Given the description of an element on the screen output the (x, y) to click on. 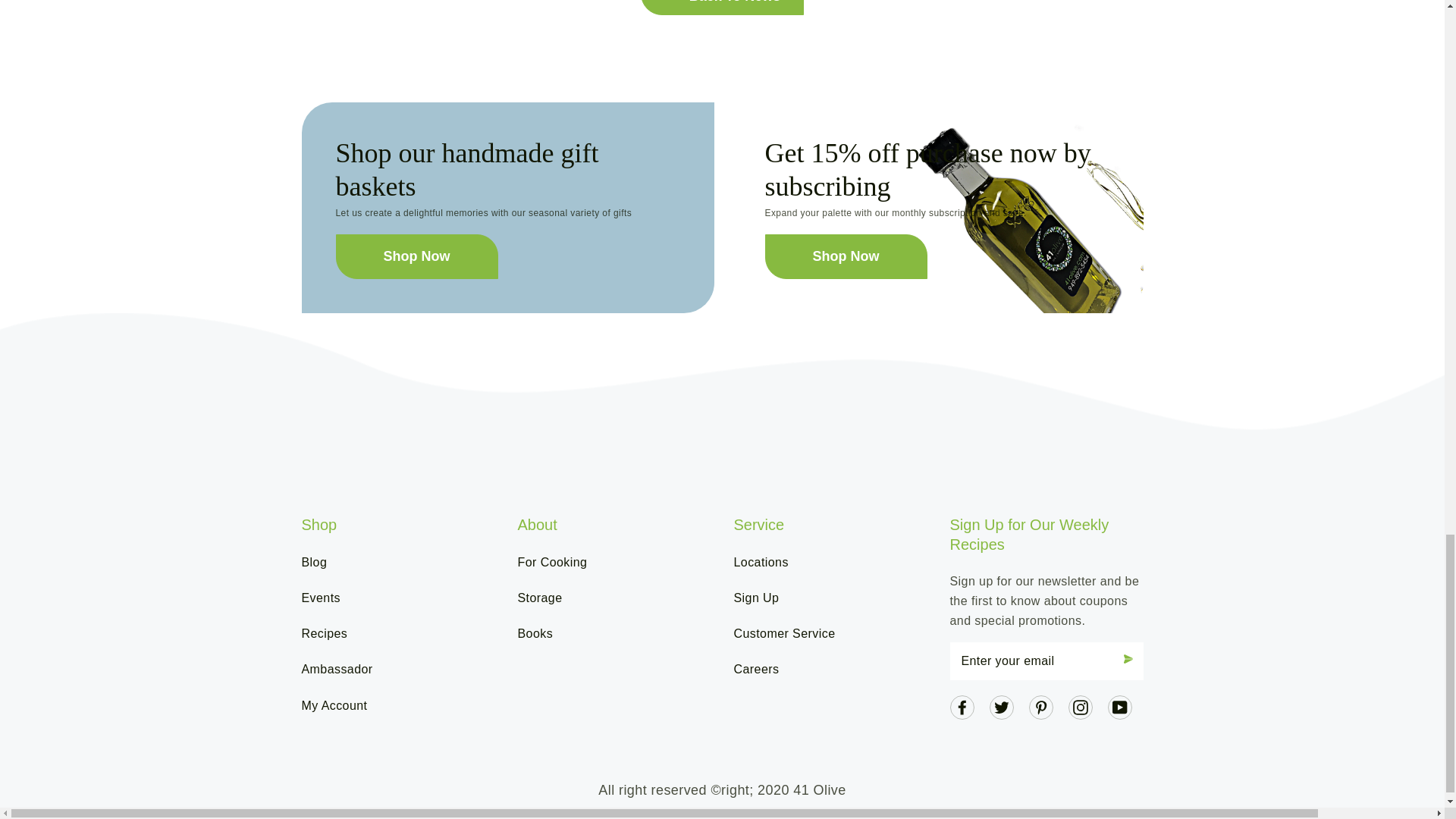
41 Olive on Instagram (1080, 706)
41 Olive on Facebook (961, 706)
41 Olive on Twitter (1001, 706)
41 Olive on YouTube (1119, 706)
41 Olive on Pinterest (1040, 706)
